Given the description of an element on the screen output the (x, y) to click on. 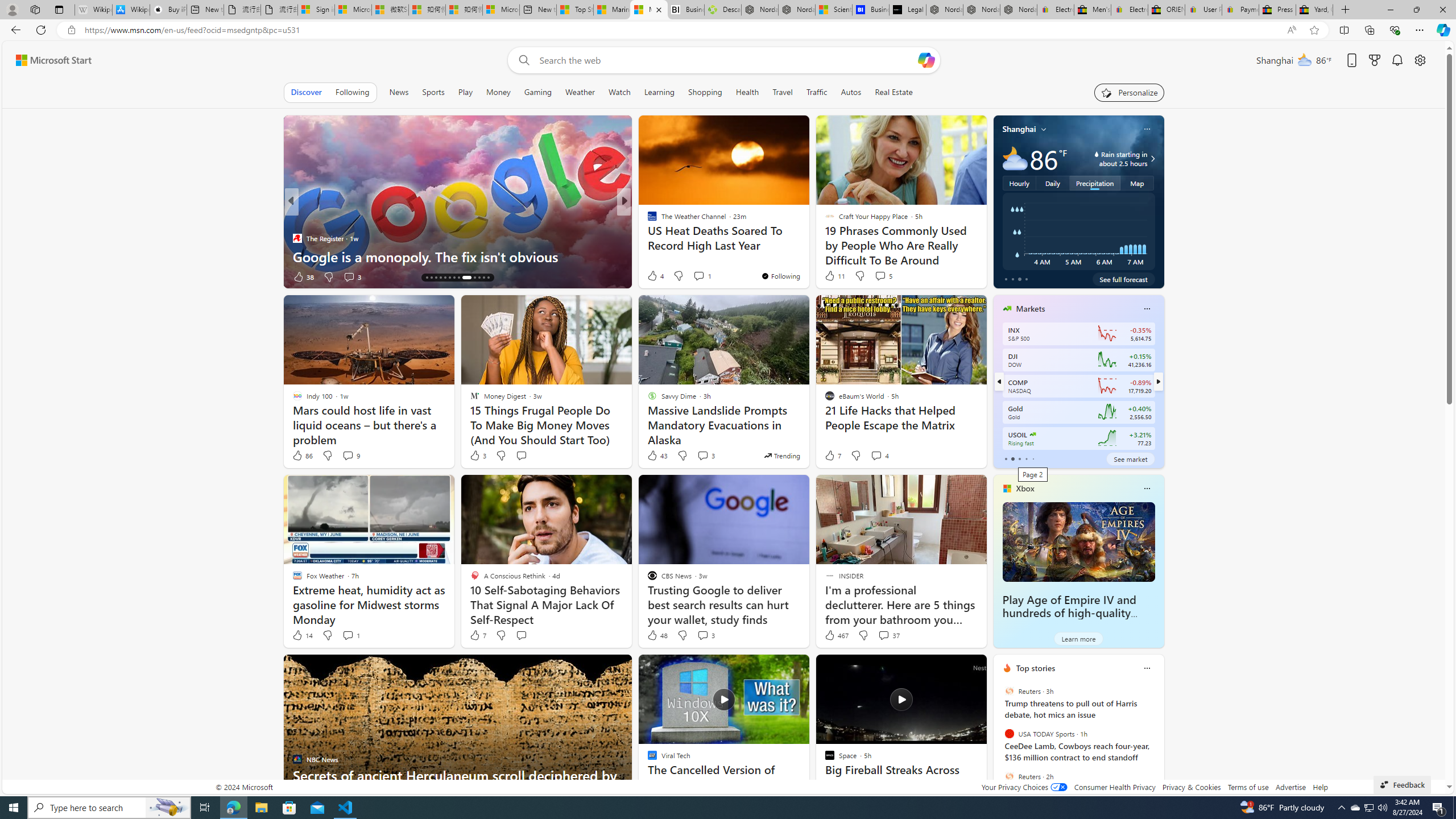
7 Like (477, 634)
You're following The Weather Channel (780, 275)
View comments 9 Comment (350, 455)
AutomationID: tab-14 (426, 277)
Your Privacy Choices (1024, 786)
